Given the description of an element on the screen output the (x, y) to click on. 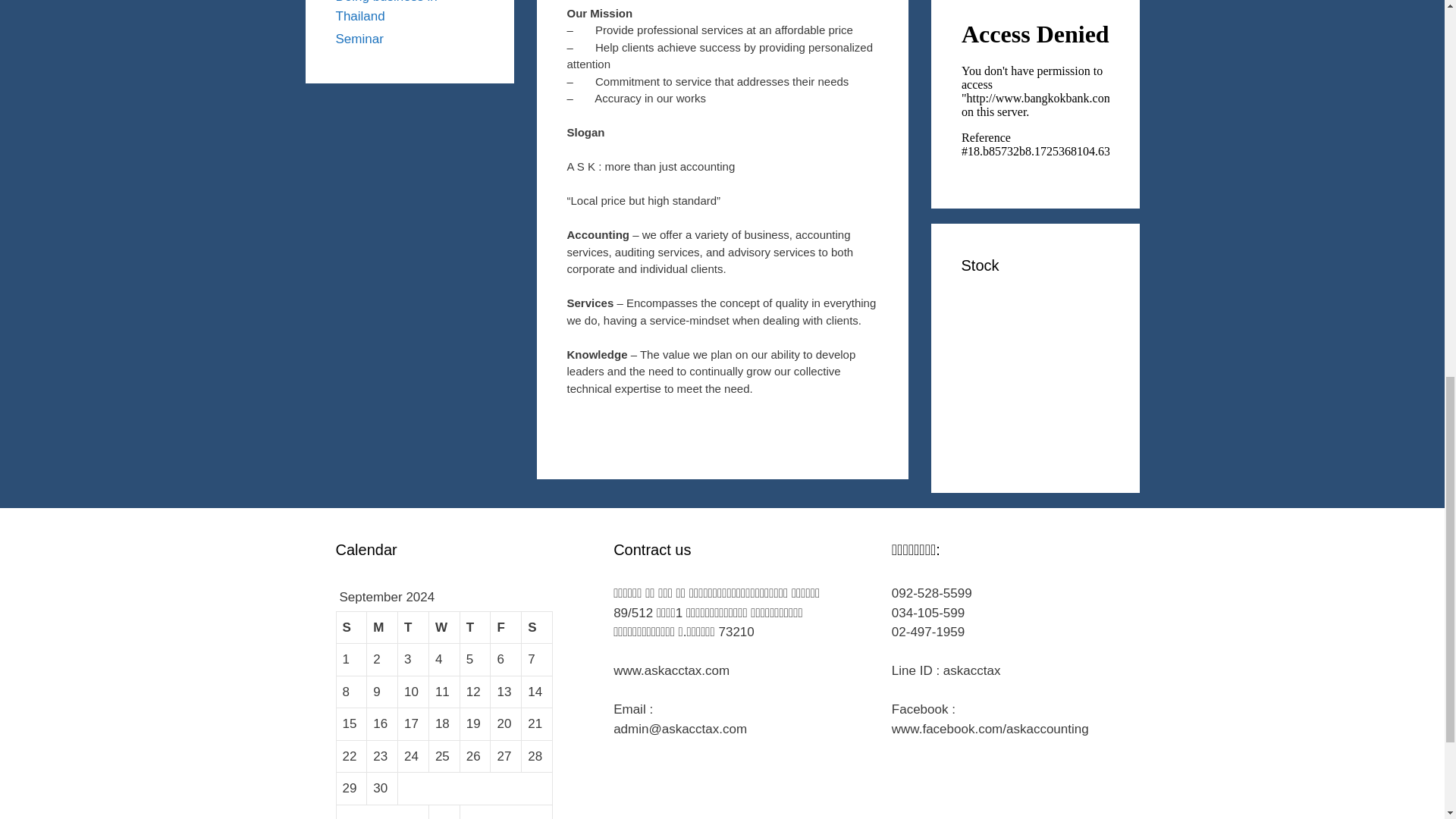
Monday (381, 627)
Sunday (352, 627)
Thursday (476, 627)
Saturday (537, 627)
Doing business in Thailand (385, 11)
Seminar (358, 38)
Friday (505, 627)
Wednesday (444, 627)
Tuesday (413, 627)
